Given the description of an element on the screen output the (x, y) to click on. 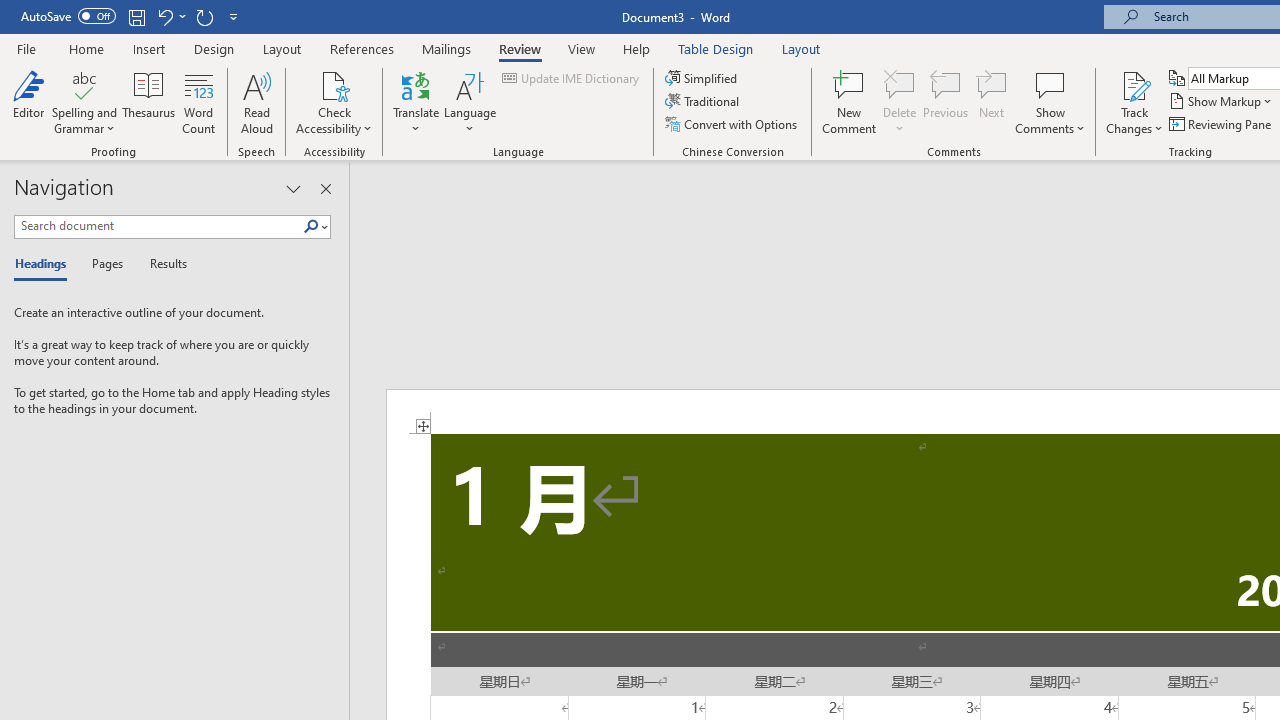
Traditional (703, 101)
Next (991, 102)
Language (470, 102)
Spelling and Grammar (84, 102)
